Given the description of an element on the screen output the (x, y) to click on. 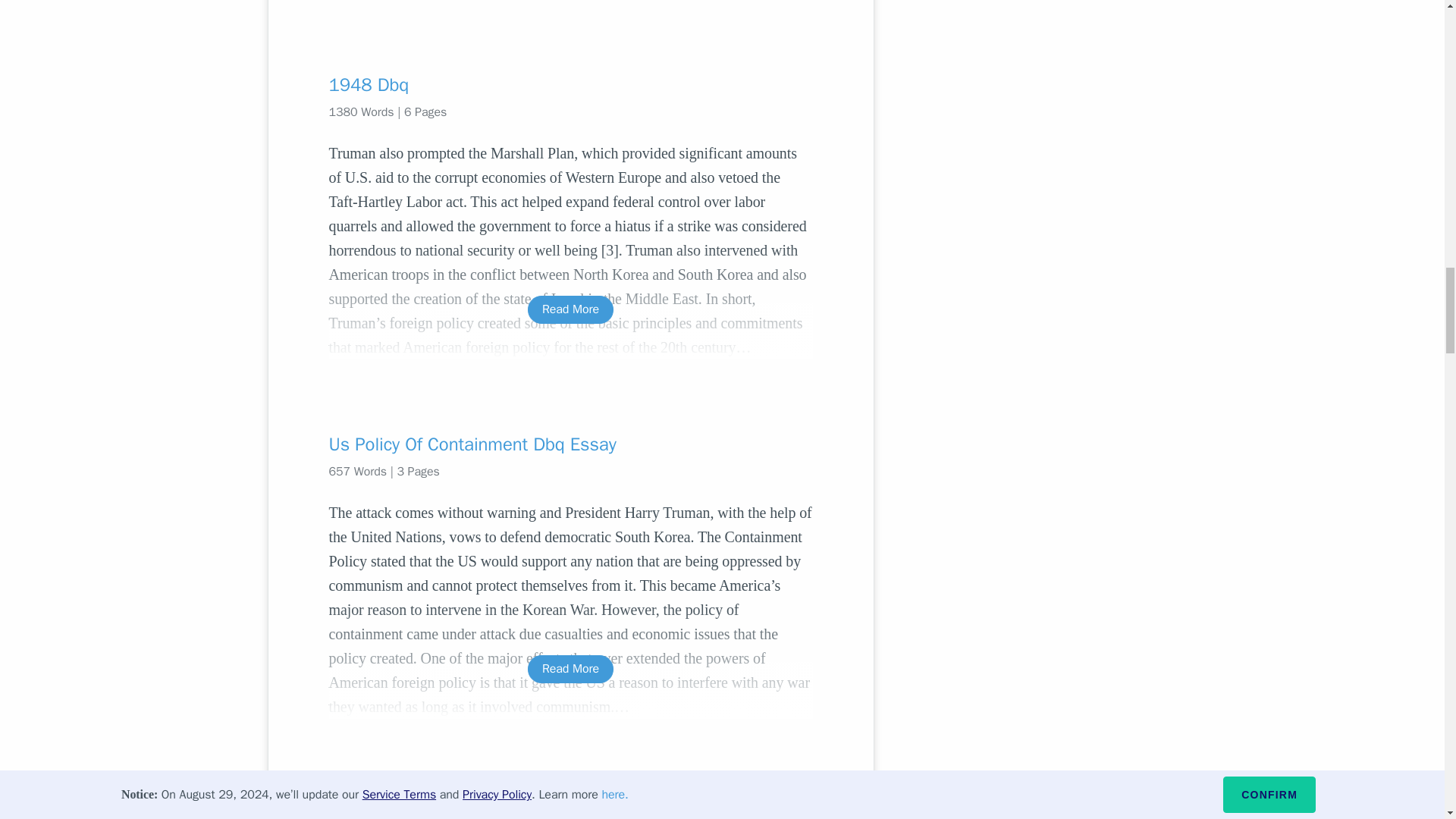
Us Policy Of Containment Dbq Essay (570, 444)
Read More (569, 669)
Read More (569, 309)
1948 Dbq (570, 84)
